Given the description of an element on the screen output the (x, y) to click on. 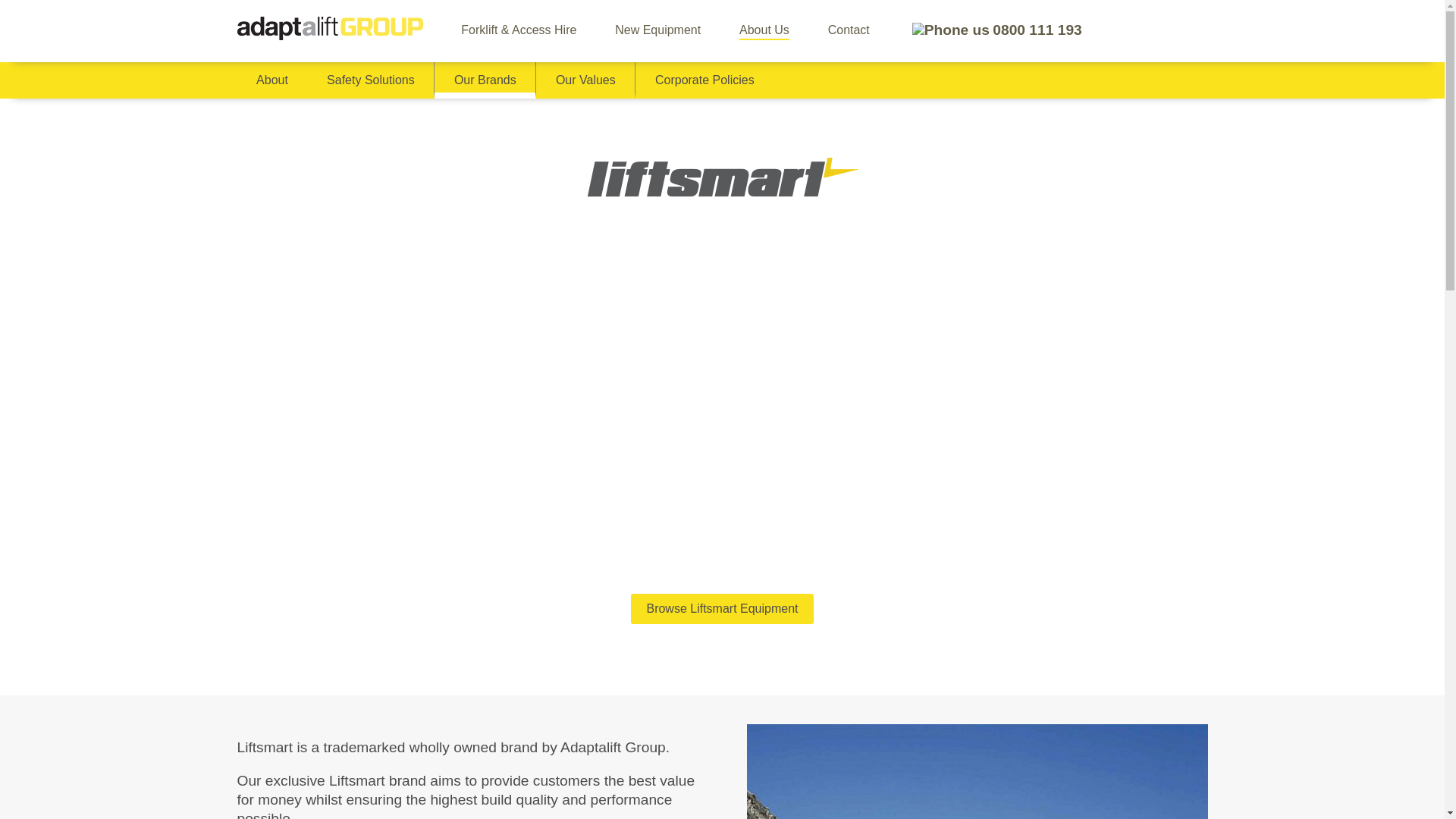
Corporate Policies (703, 80)
Your saved items (1132, 29)
Contact (848, 29)
Call us today - forklift sales and hire (994, 29)
Search this site (1194, 29)
Our Values (584, 80)
 0800 111 193 (994, 29)
New Equipment (657, 29)
Browse Liftsmart Equipment (721, 608)
Our Brands (484, 80)
About (271, 80)
About Us (764, 29)
Liftsmart LS RT25 35 1 (976, 771)
Safety Solutions (371, 80)
